Given the description of an element on the screen output the (x, y) to click on. 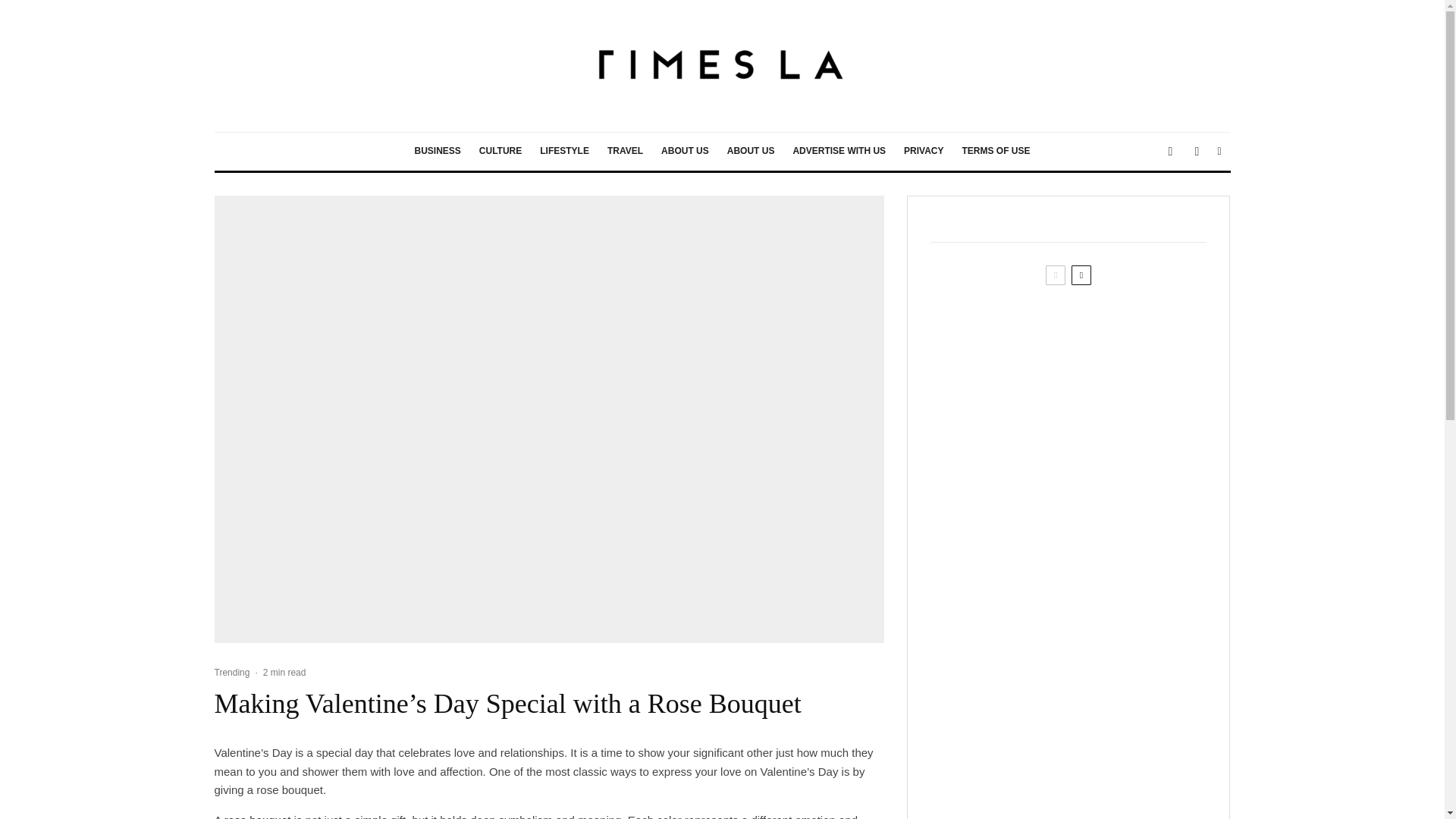
CULTURE (500, 151)
TRAVEL (625, 151)
BUSINESS (436, 151)
LIFESTYLE (564, 151)
